Given the description of an element on the screen output the (x, y) to click on. 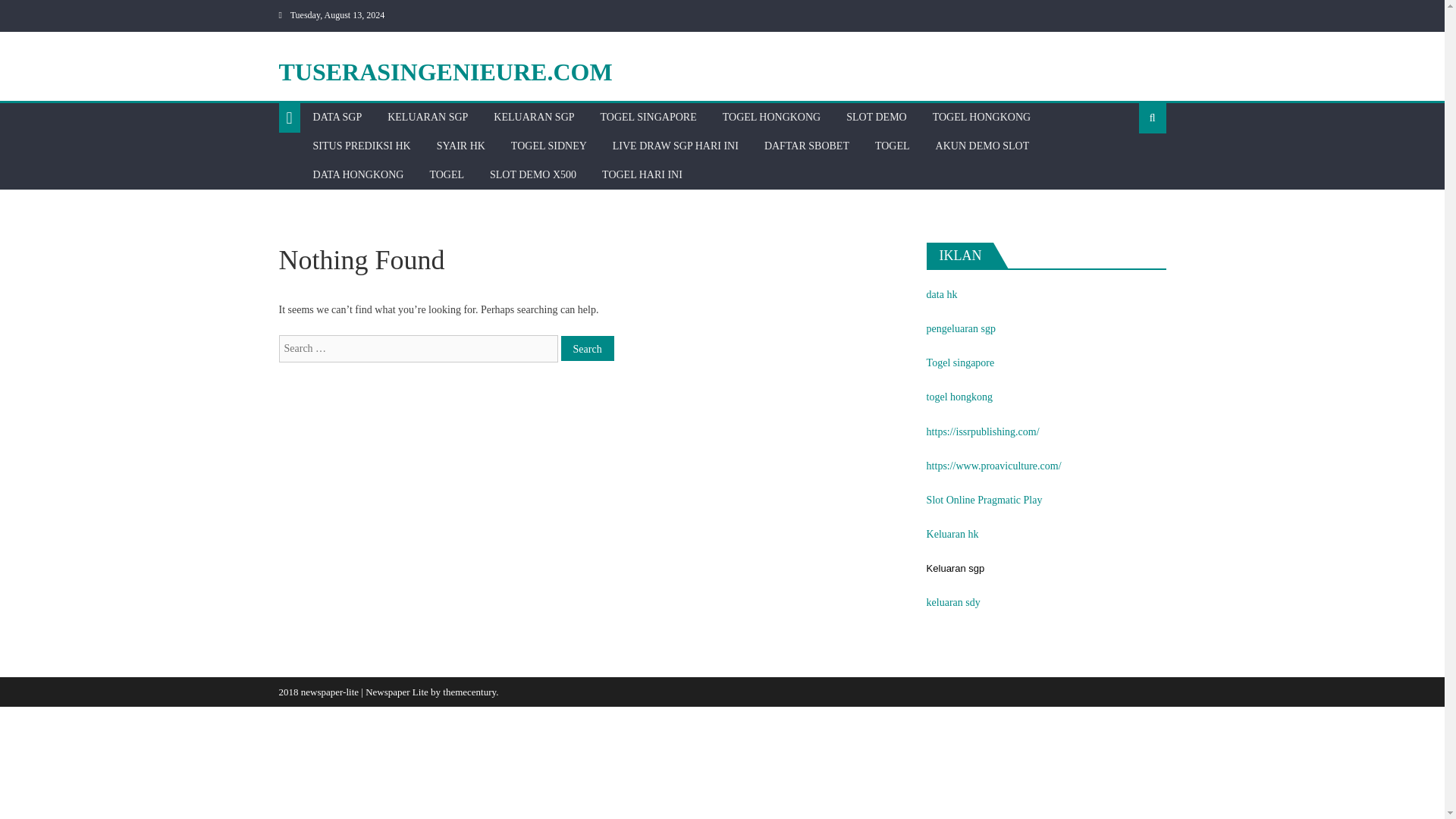
SLOT DEMO X500 (533, 174)
TOGEL HARI INI (642, 174)
themecentury (469, 691)
Search (587, 348)
KELUARAN SGP (427, 117)
SLOT DEMO (875, 117)
Togel singapore (960, 362)
Search (1128, 166)
SITUS PREDIKSI HK (361, 145)
Search (587, 348)
